Given the description of an element on the screen output the (x, y) to click on. 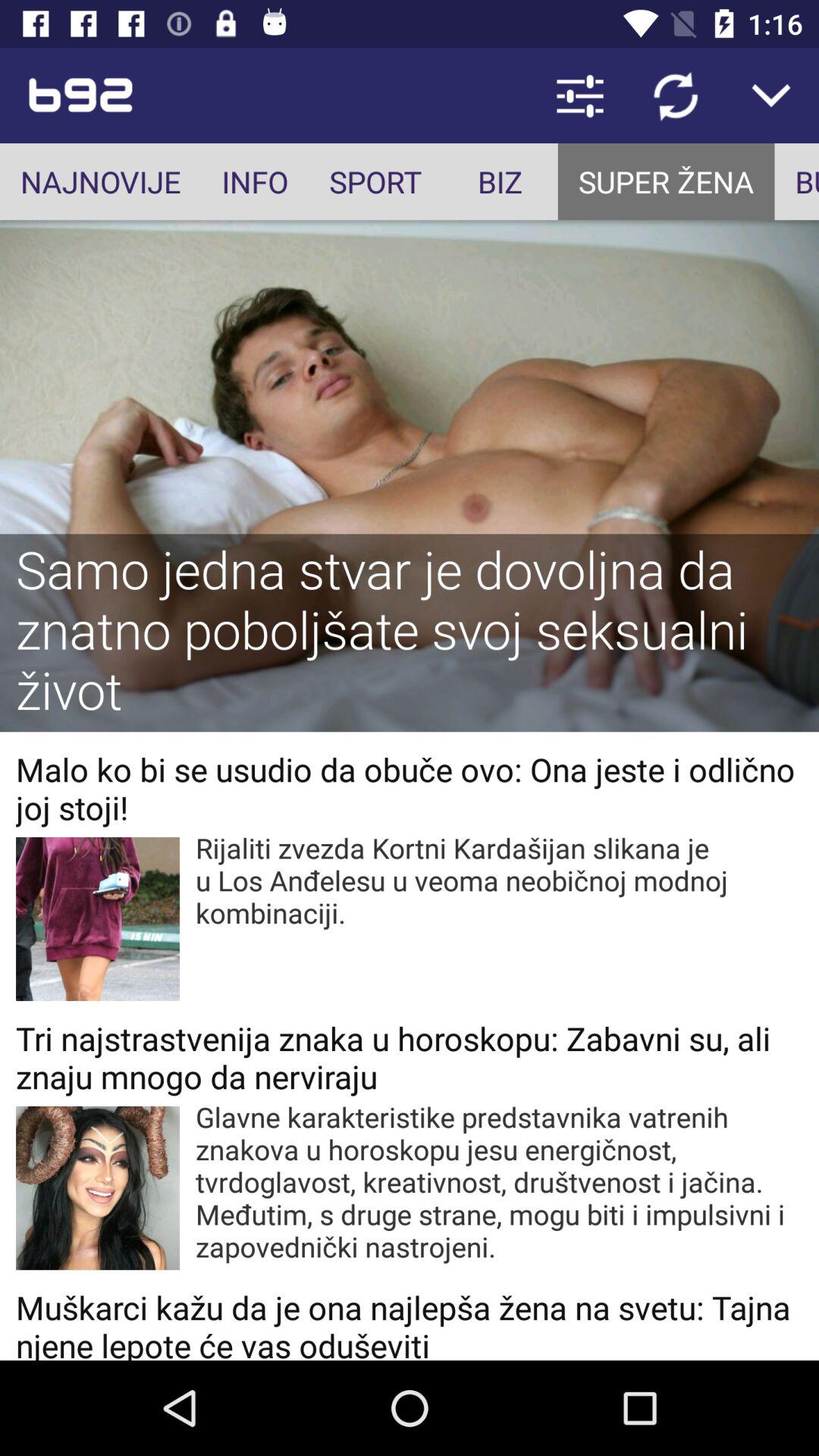
tap the tri najstrastvenija znaka item (409, 1057)
